Given the description of an element on the screen output the (x, y) to click on. 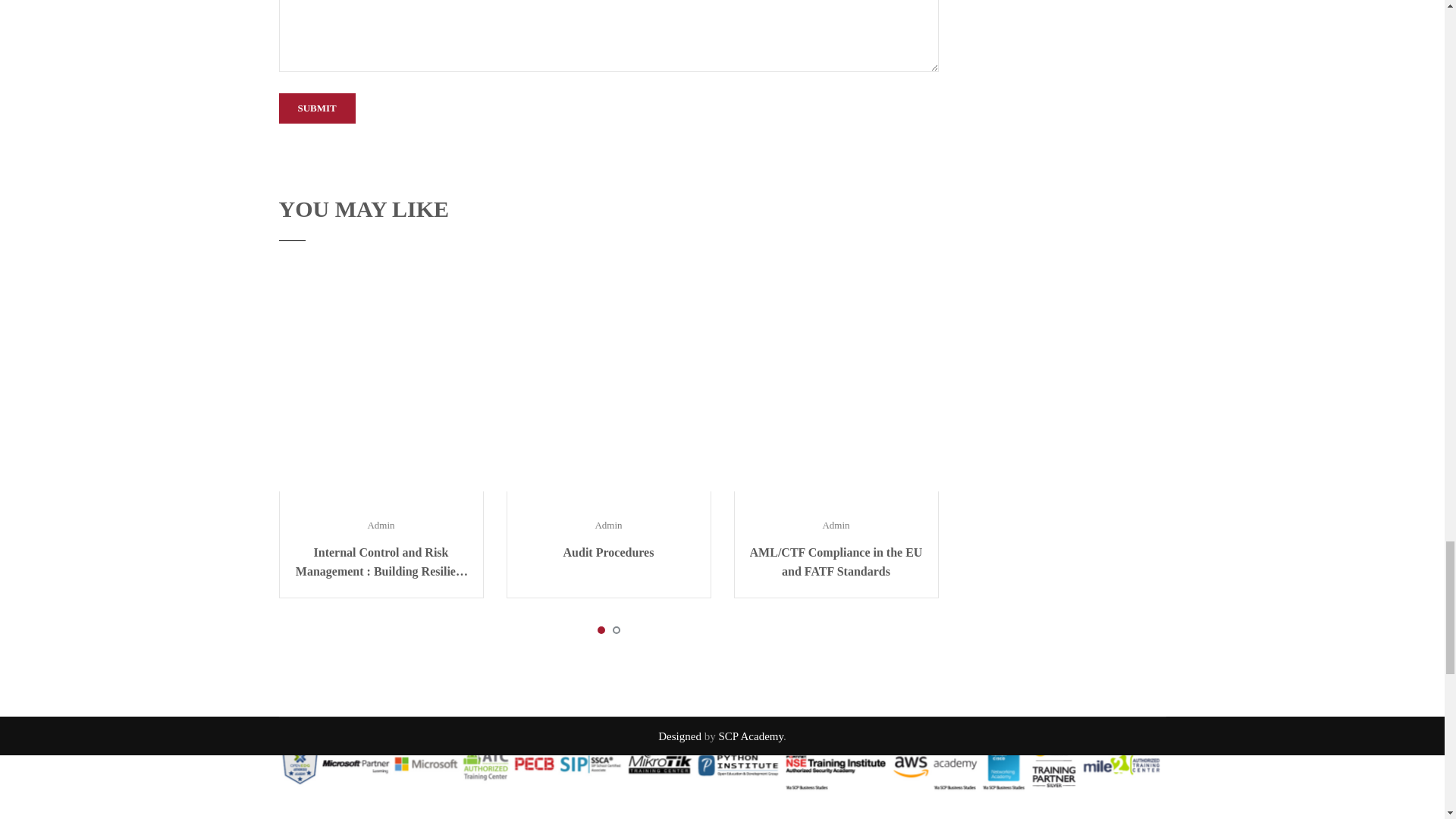
Submit (317, 108)
